Given the description of an element on the screen output the (x, y) to click on. 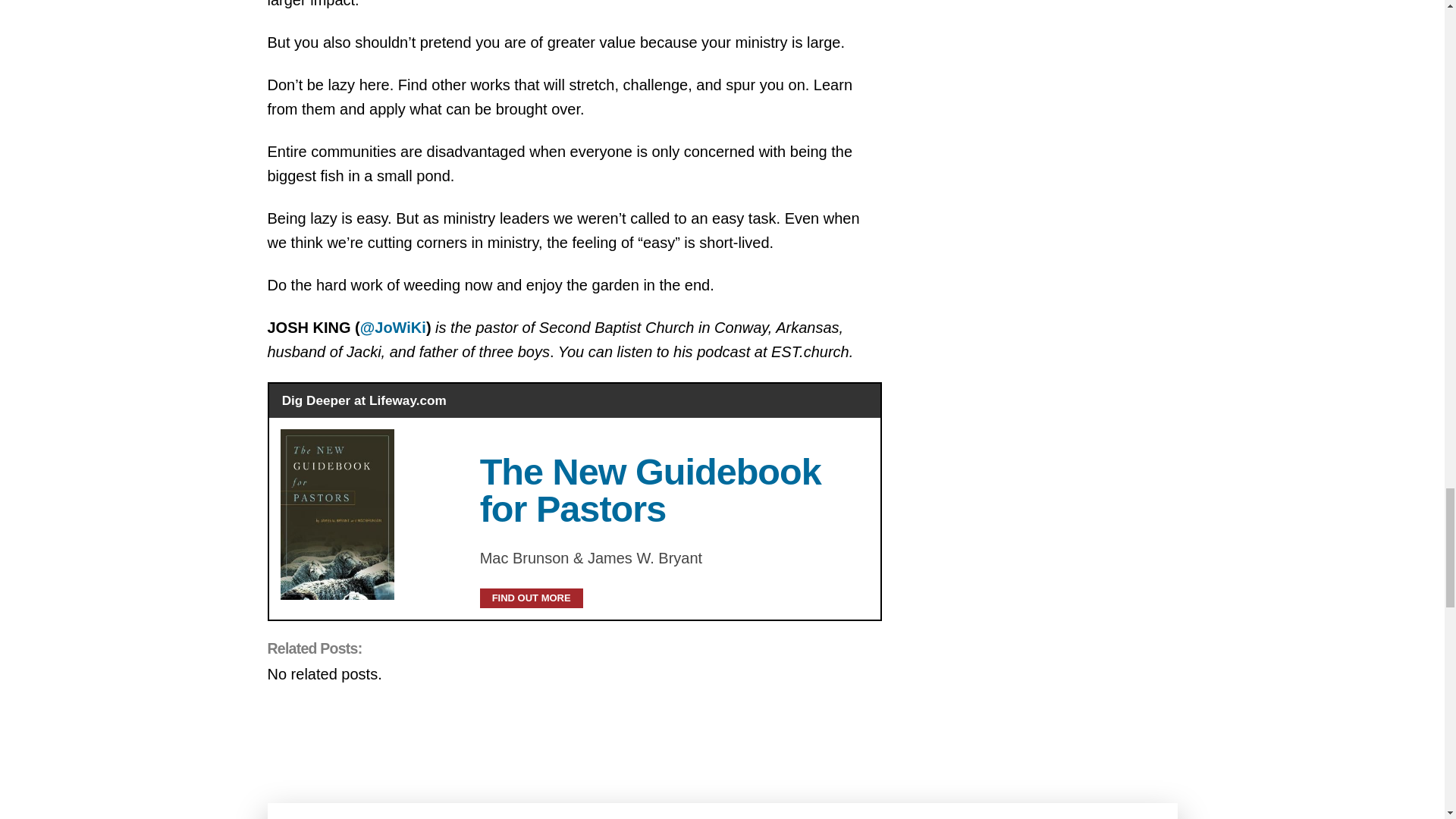
The New Guidebook for Pastors (650, 490)
FIND OUT MORE (531, 598)
